Given the description of an element on the screen output the (x, y) to click on. 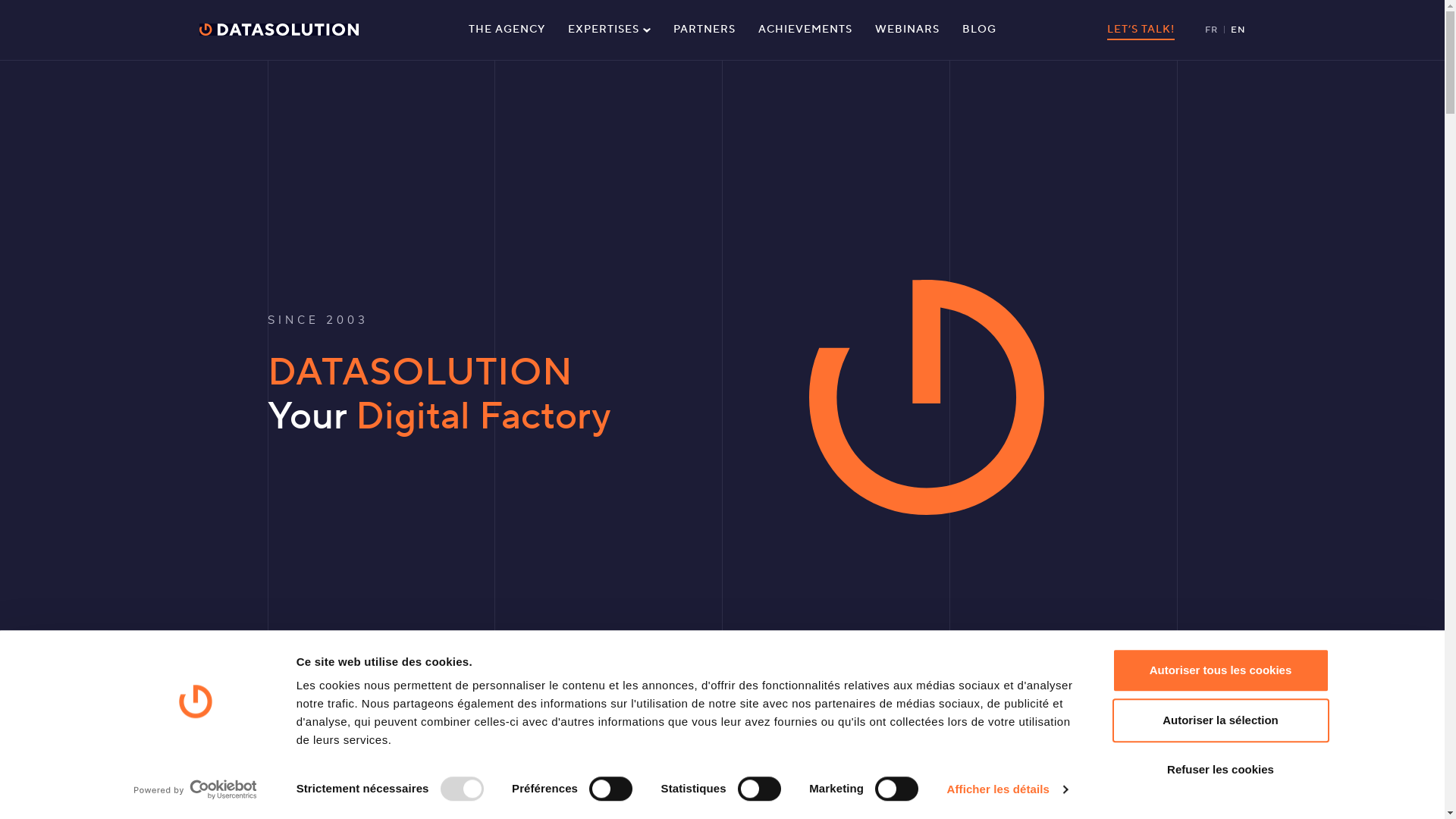
EN Element type: text (1237, 29)
FR Element type: text (1210, 29)
THE AGENCY Element type: text (506, 29)
Autoriser tous les cookies Element type: text (1219, 670)
PARTNERS Element type: text (704, 29)
BLOG Element type: text (979, 29)
WEBINARS Element type: text (907, 29)
Refuser les cookies Element type: text (1219, 769)
EXPERTISES Element type: text (608, 29)
ACHIEVEMENTS Element type: text (805, 29)
